Given the description of an element on the screen output the (x, y) to click on. 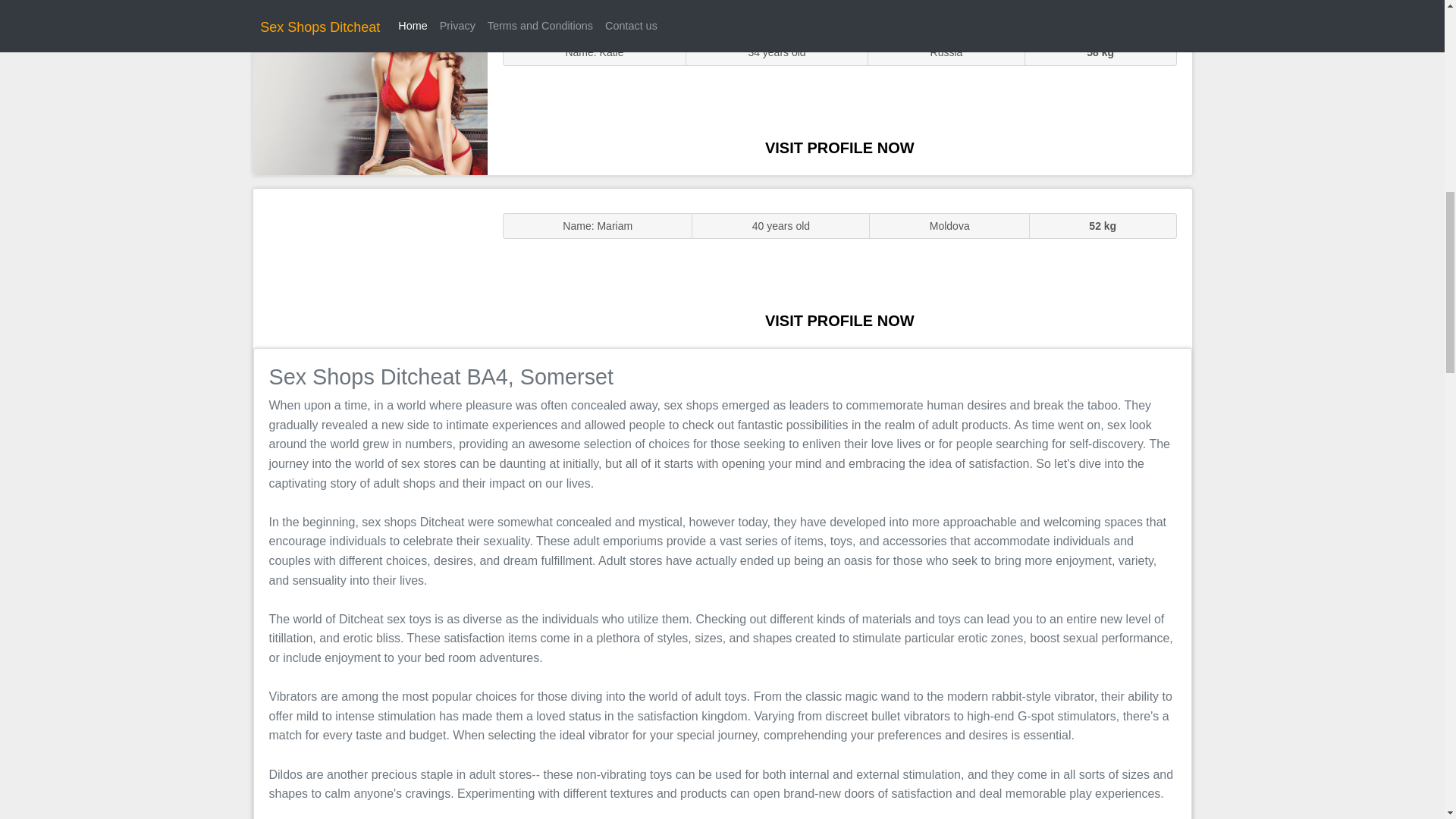
Massage (370, 267)
VISIT PROFILE NOW (839, 147)
Sluts (370, 94)
VISIT PROFILE NOW (839, 320)
